Given the description of an element on the screen output the (x, y) to click on. 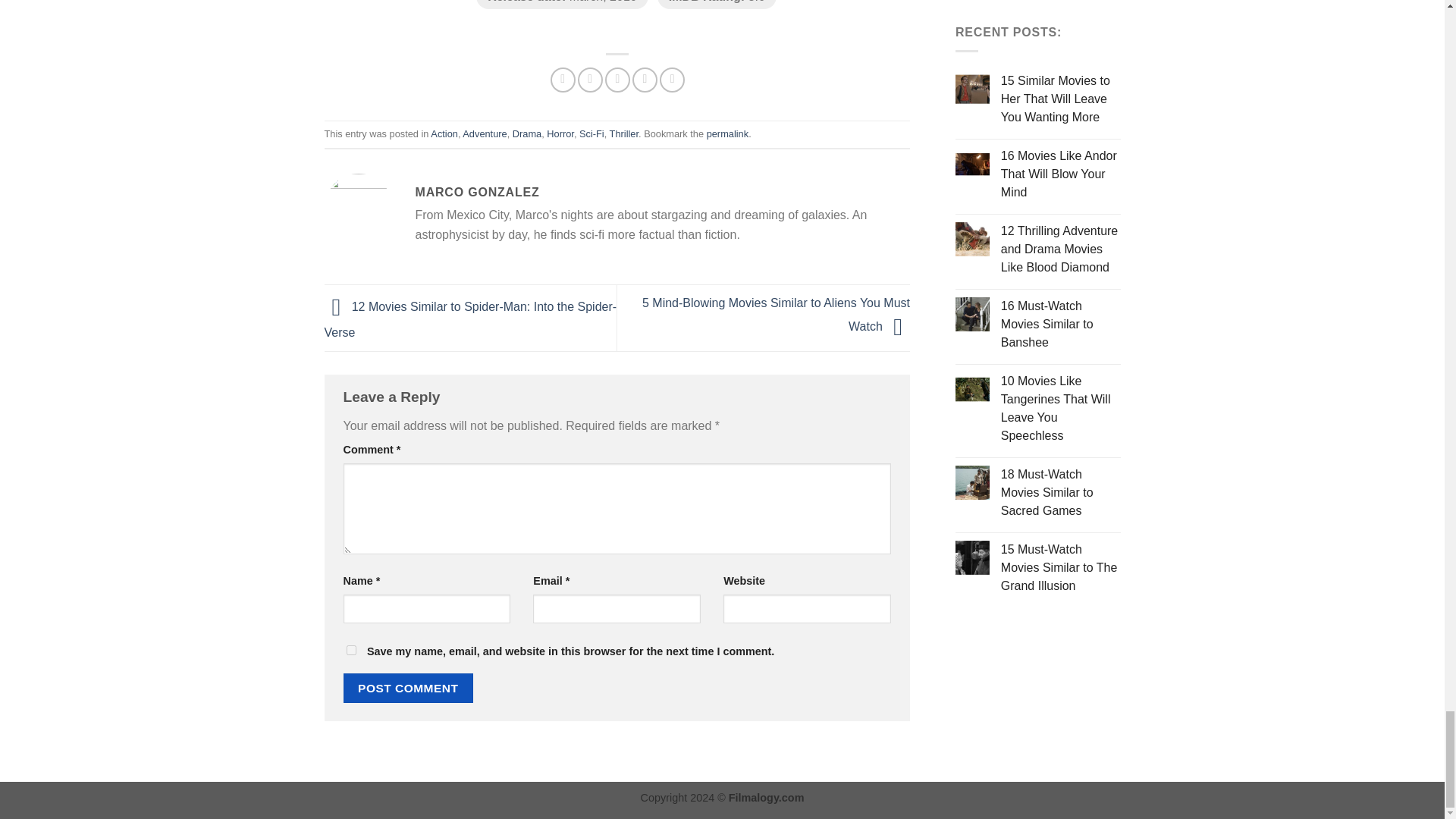
Post Comment (407, 687)
yes (350, 650)
Drama (526, 133)
Horror (560, 133)
Post Comment (407, 687)
permalink (727, 133)
Email to a Friend (617, 79)
12 Movies Similar to Spider-Man: Into the Spider-Verse (470, 320)
5 Mind-Blowing Movies Similar to Aliens You Must Watch (776, 314)
Sci-Fi (591, 133)
Thriller (624, 133)
Share on LinkedIn (671, 79)
Adventure (484, 133)
Share on Twitter (590, 79)
Action (444, 133)
